Given the description of an element on the screen output the (x, y) to click on. 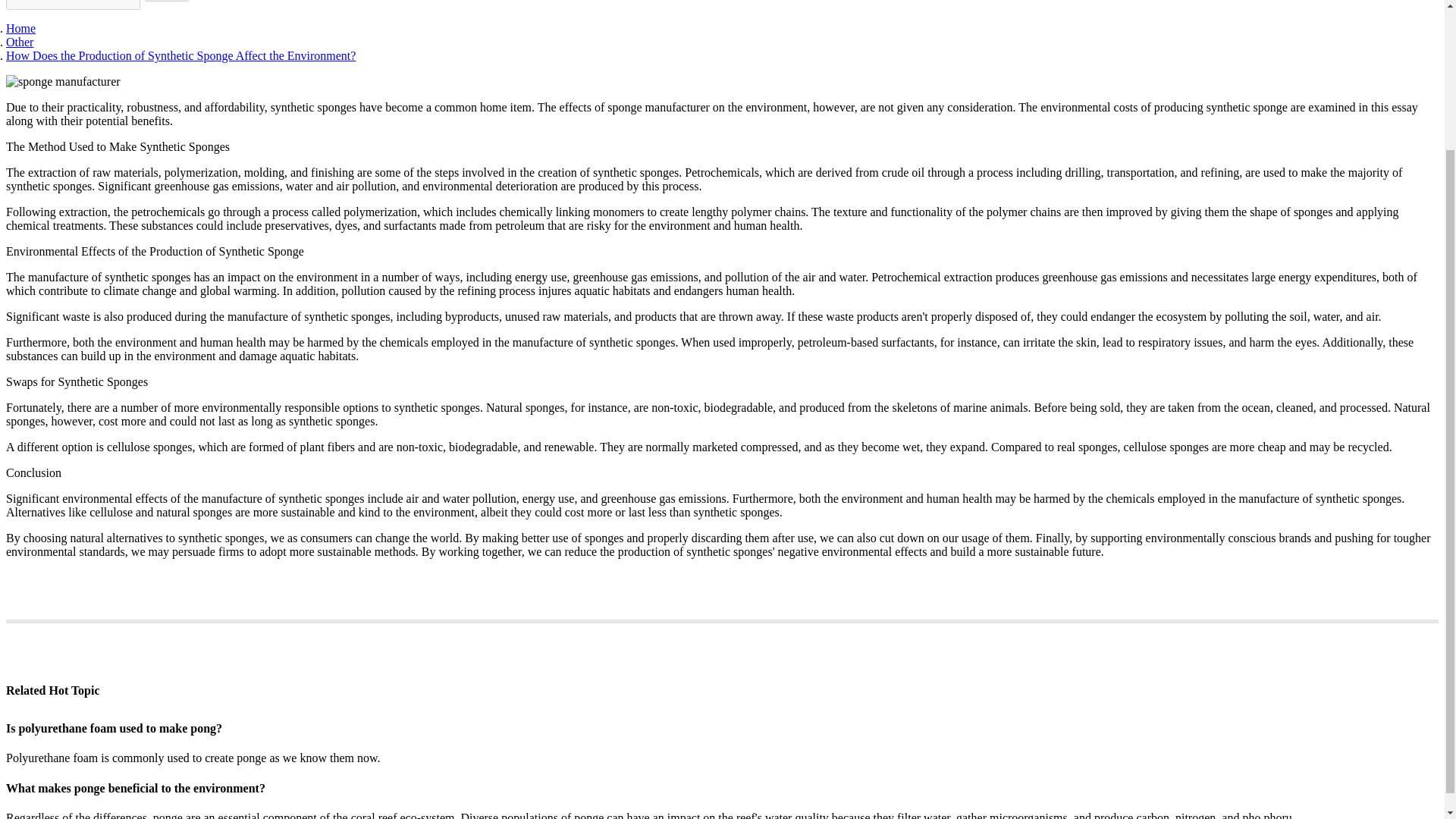
Other (19, 42)
Home (19, 28)
Search (166, 0)
Search (166, 0)
